Given the description of an element on the screen output the (x, y) to click on. 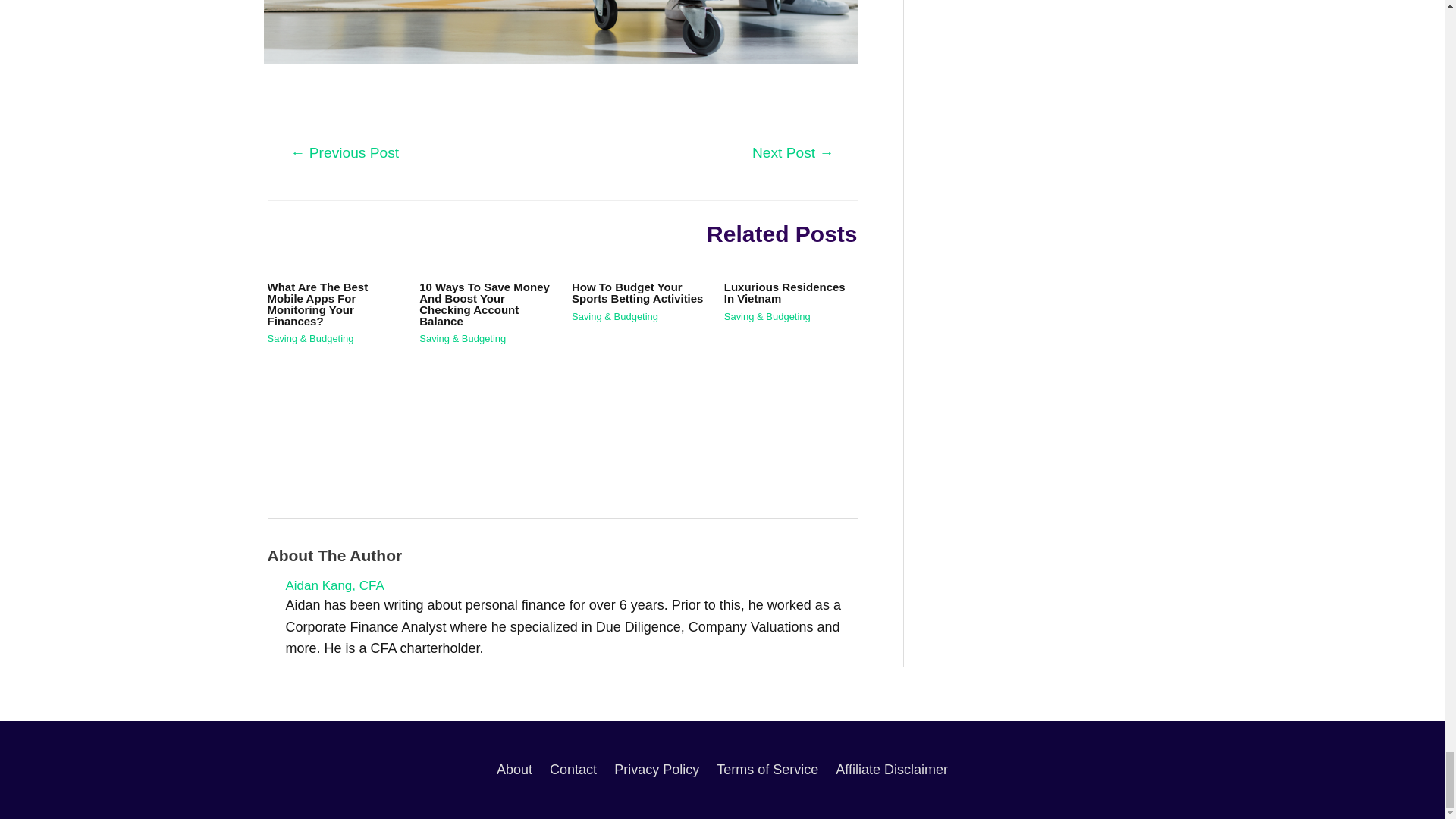
How To Budget Your Sports Betting Activities (637, 292)
What Are The Best Mobile Apps For Monitoring Your Finances? (317, 303)
Luxurious Residences In Vietnam (784, 292)
